Given the description of an element on the screen output the (x, y) to click on. 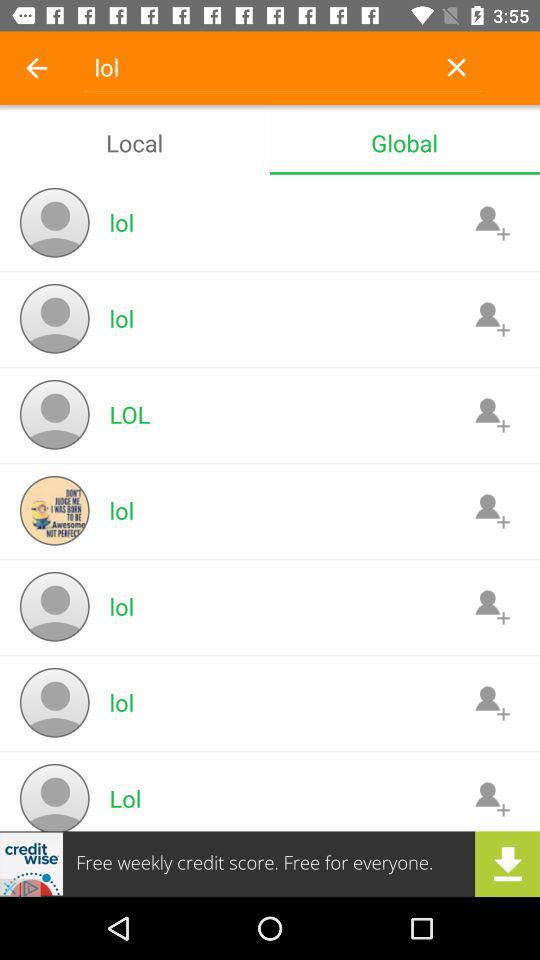
contect button (492, 318)
